Given the description of an element on the screen output the (x, y) to click on. 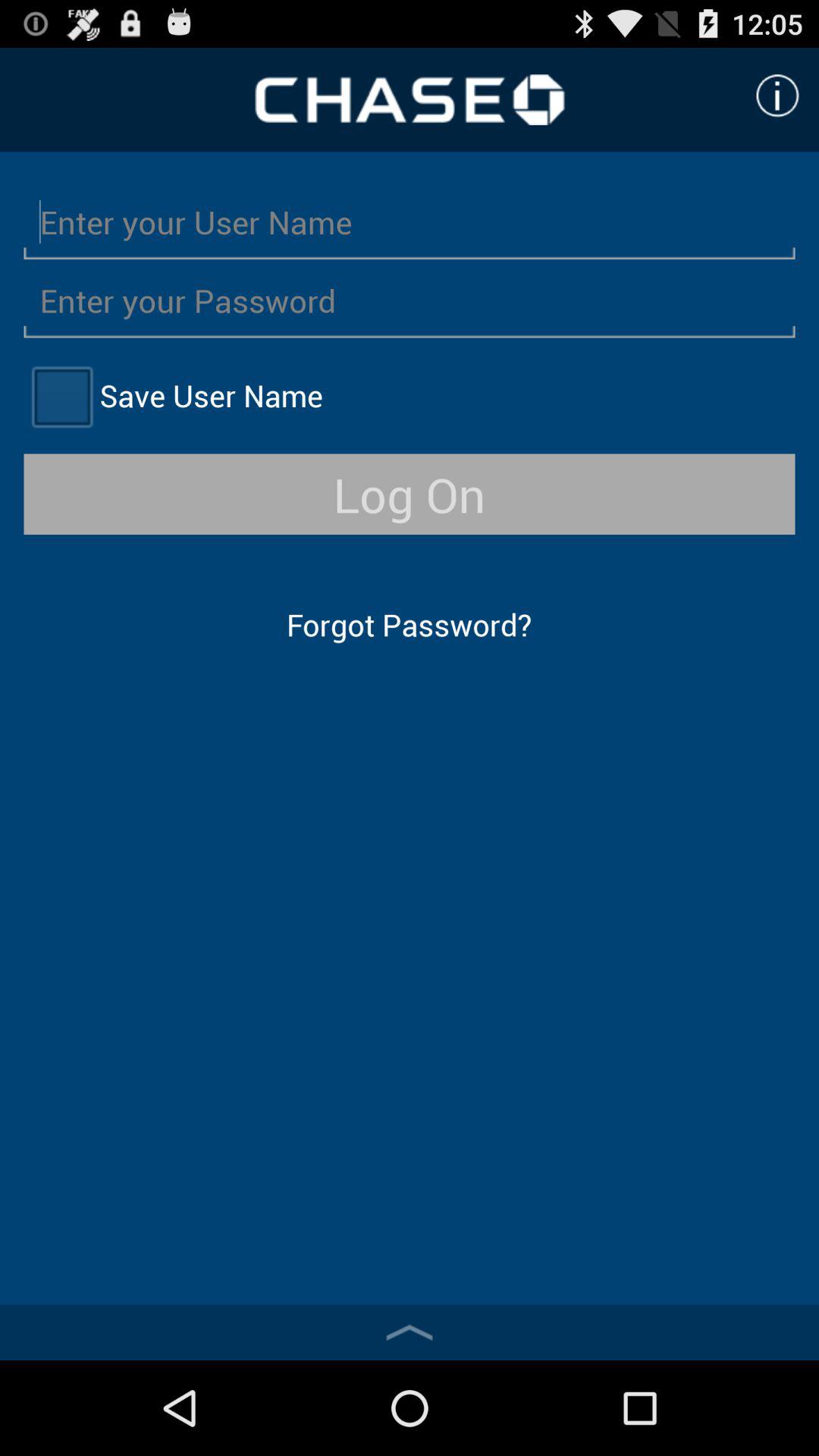
click icon at the bottom (409, 1332)
